Given the description of an element on the screen output the (x, y) to click on. 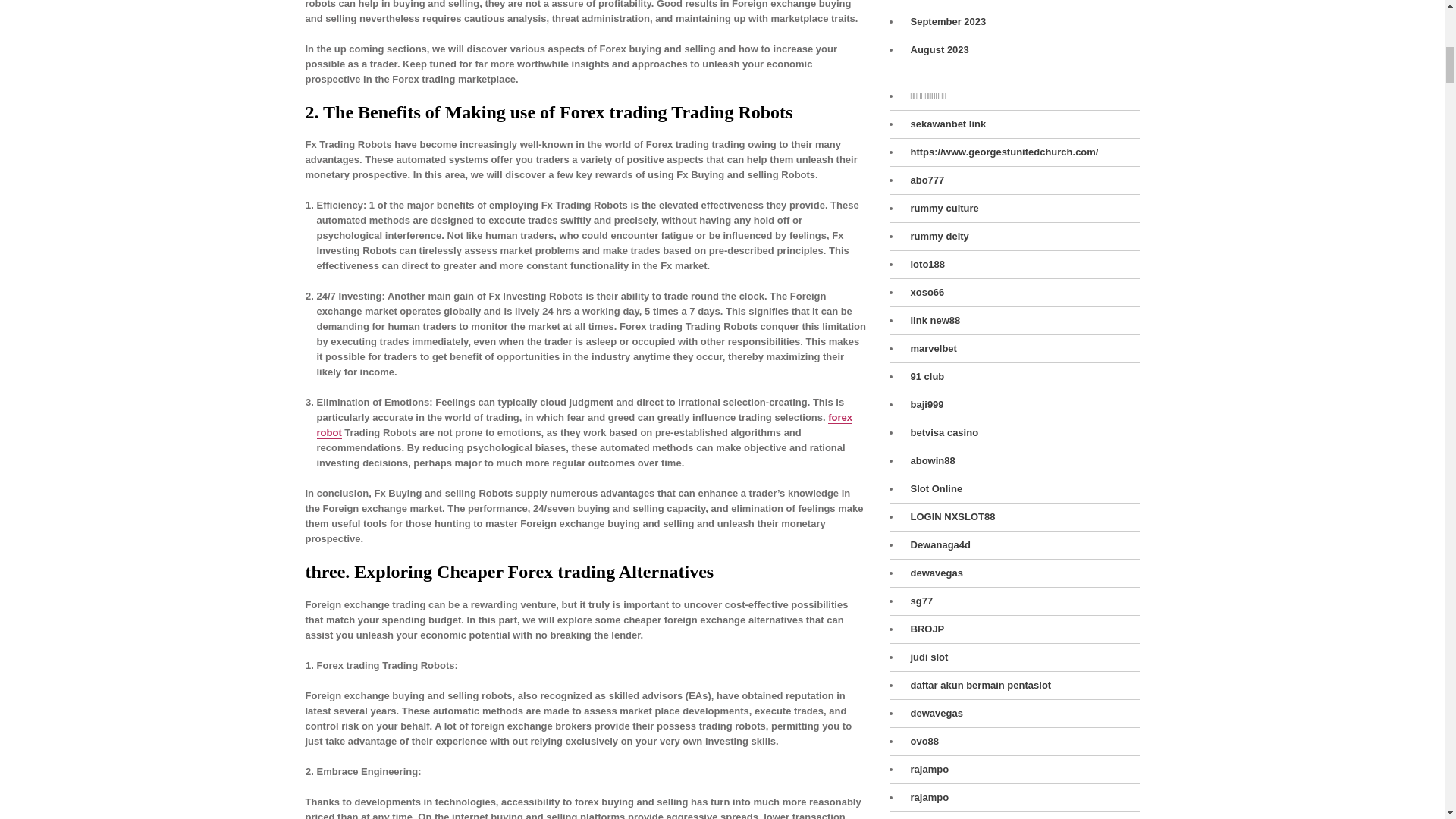
loto188 (923, 264)
link new88 (930, 320)
marvelbet (929, 348)
rummy deity (935, 236)
forex robot (585, 424)
rummy culture (940, 208)
91 club (922, 376)
August 2023 (935, 49)
xoso66 (922, 292)
sekawanbet link (943, 124)
September 2023 (943, 21)
October 2023 (937, 0)
abo777 (922, 180)
